Given the description of an element on the screen output the (x, y) to click on. 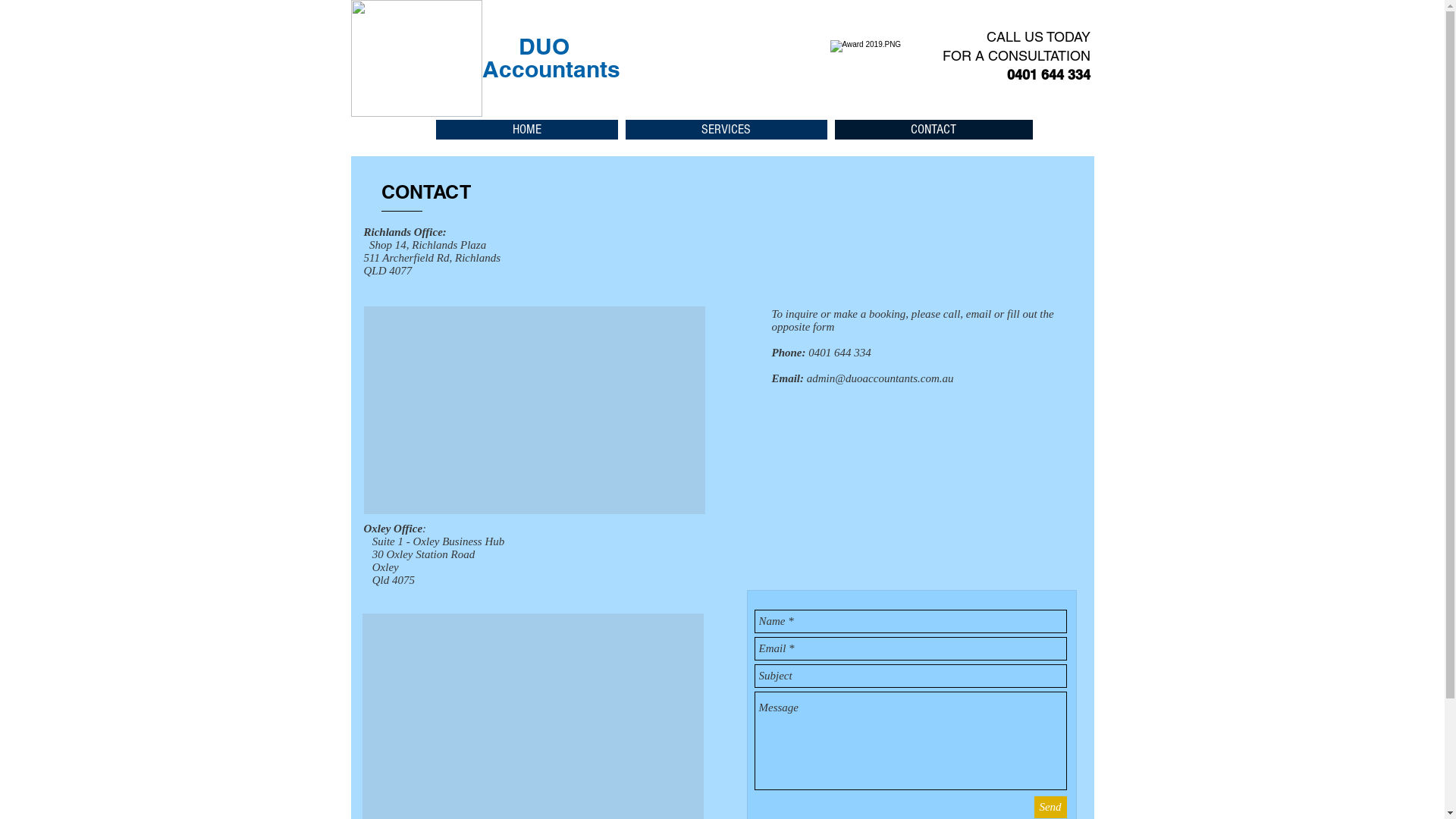
admin@duoaccountants.com.au Element type: text (879, 378)
HOME Element type: text (526, 129)
Google Maps Element type: hover (533, 410)
SERVICES Element type: text (725, 129)
CONTACT Element type: text (933, 129)
Send Element type: text (1050, 807)
